Given the description of an element on the screen output the (x, y) to click on. 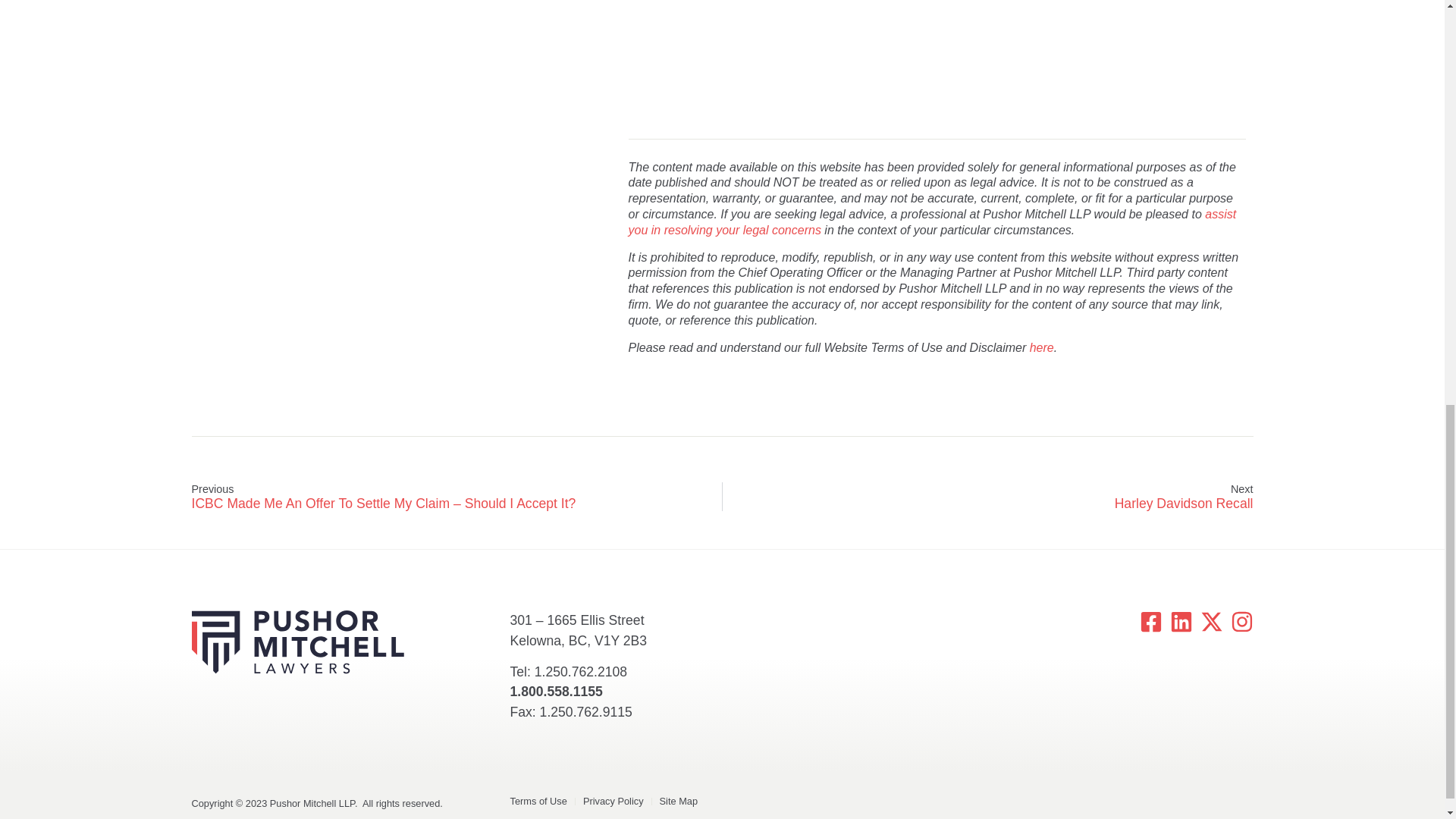
assist you in resolving your legal concerns (932, 222)
here (1041, 347)
